Given the description of an element on the screen output the (x, y) to click on. 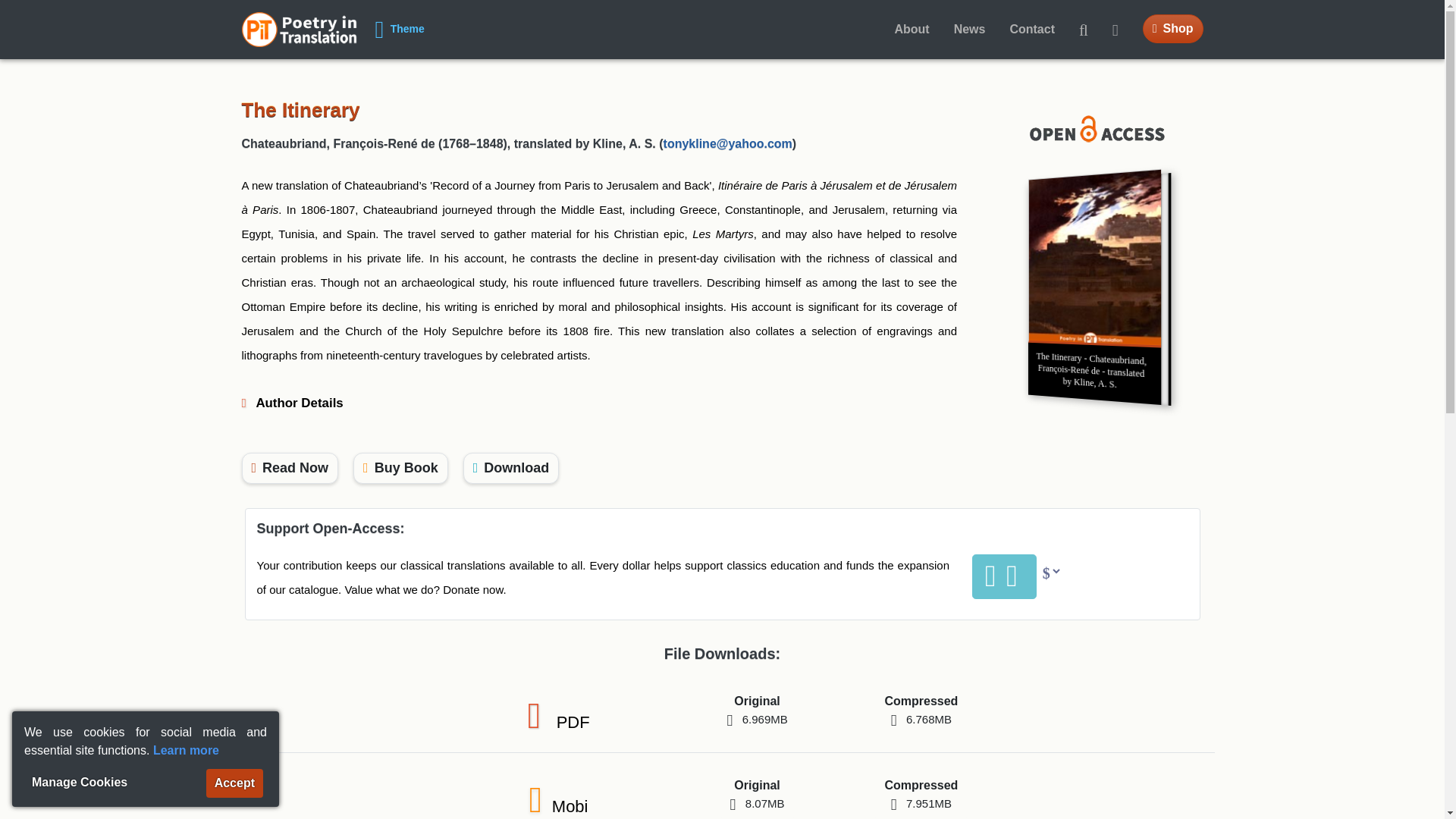
Download (511, 468)
Contact (1032, 29)
Shop (1173, 28)
Learn more (185, 749)
Account Login (1121, 29)
News (921, 710)
Download Below (969, 29)
Support Open Access (511, 468)
Home (1091, 127)
Contact Us (298, 29)
Read Now (1032, 29)
About (289, 468)
News Updates (756, 710)
